Given the description of an element on the screen output the (x, y) to click on. 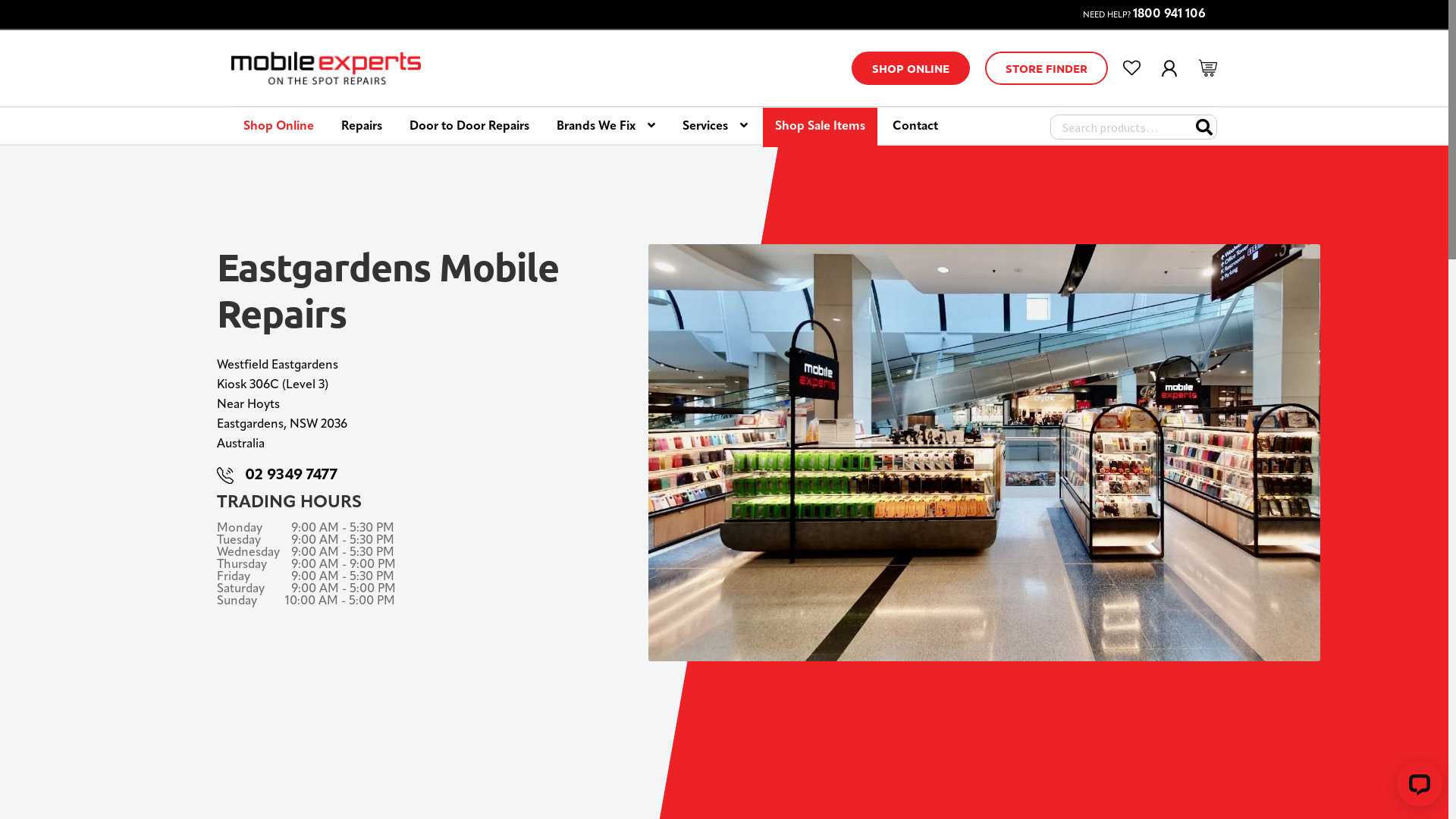
Contact Element type: text (915, 127)
Shop Online Element type: text (278, 127)
STORE FINDER Element type: text (1046, 68)
SHOP ONLINE Element type: text (910, 68)
Shop Sale Items Element type: text (819, 127)
Search Element type: text (1206, 124)
Brands We Fix Element type: text (605, 126)
Skip to navigation Element type: text (230, 106)
Repairs Element type: text (361, 127)
Door to Door Repairs Element type: text (469, 127)
02 9349 7477 Element type: text (290, 475)
Services Element type: text (714, 126)
1800 941 106 Element type: text (1168, 14)
